Given the description of an element on the screen output the (x, y) to click on. 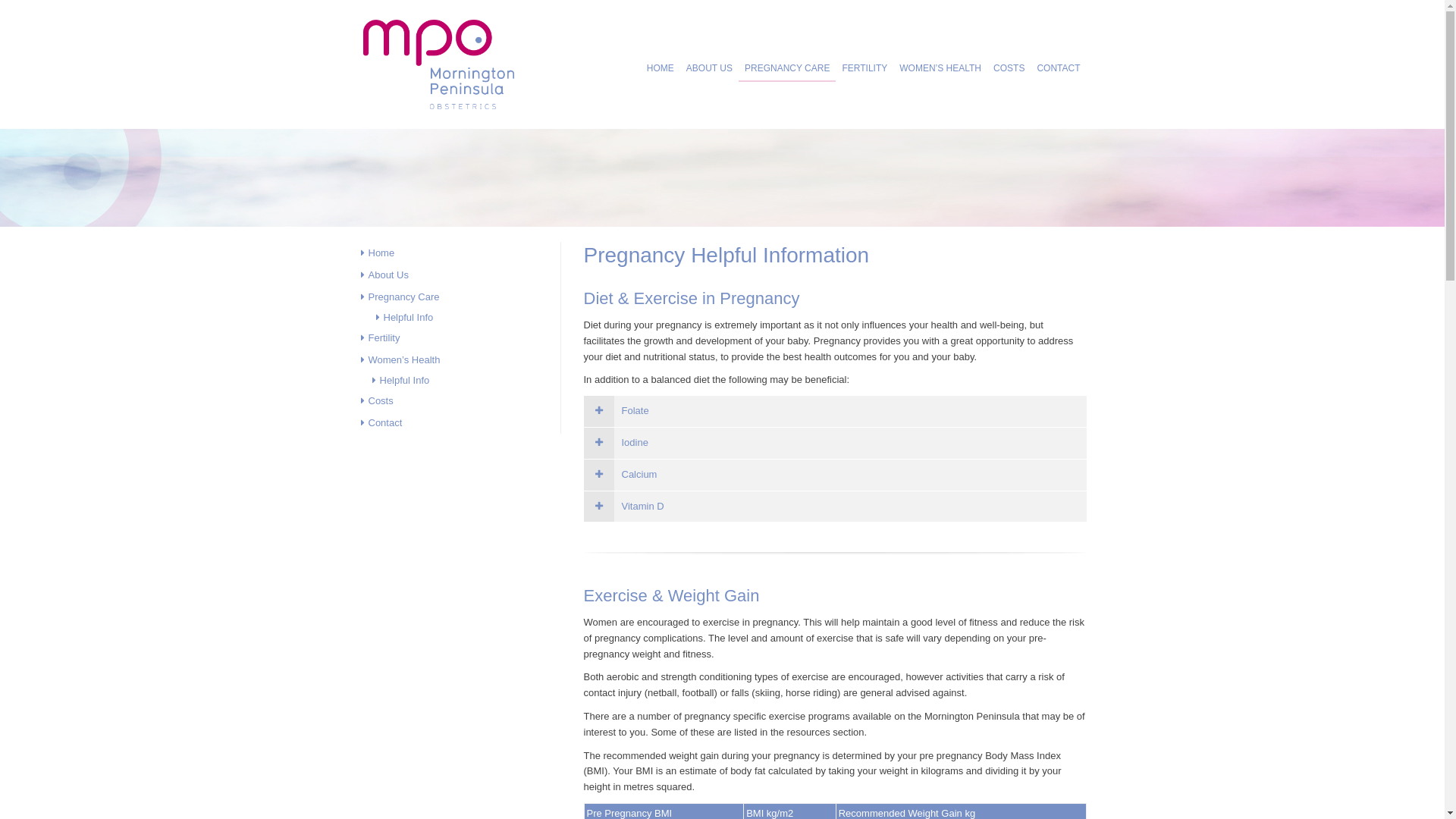
COSTS Element type: text (1008, 68)
Iodine Element type: text (834, 442)
Vitamin D Element type: text (834, 506)
CONTACT Element type: text (1057, 68)
PREGNANCY CARE Element type: text (786, 68)
FERTILITY Element type: text (864, 68)
Contact Element type: text (458, 422)
ABOUT US Element type: text (709, 68)
Costs Element type: text (458, 400)
Pregnancy Care Element type: text (458, 296)
Home Element type: text (458, 252)
Folate Element type: text (834, 410)
Helpful Info Element type: text (465, 316)
About Us Element type: text (458, 274)
Calcium Element type: text (834, 474)
Fertility Element type: text (458, 337)
HOME Element type: text (660, 68)
Helpful Info Element type: text (465, 379)
